Given the description of an element on the screen output the (x, y) to click on. 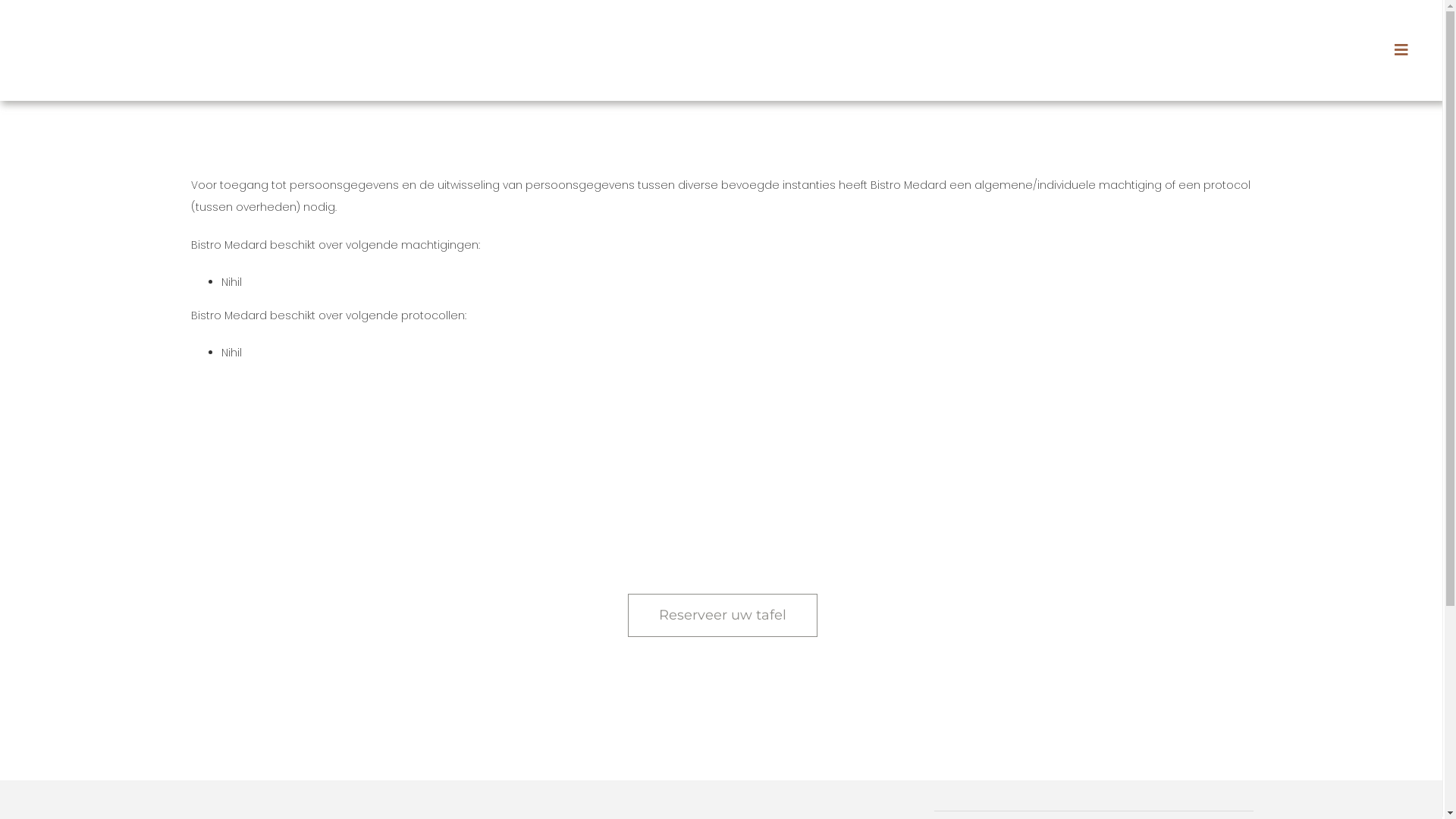
Reserveer uw tafel Element type: text (722, 615)
Toggle Sliding Bar Element type: hover (1400, 49)
